Given the description of an element on the screen output the (x, y) to click on. 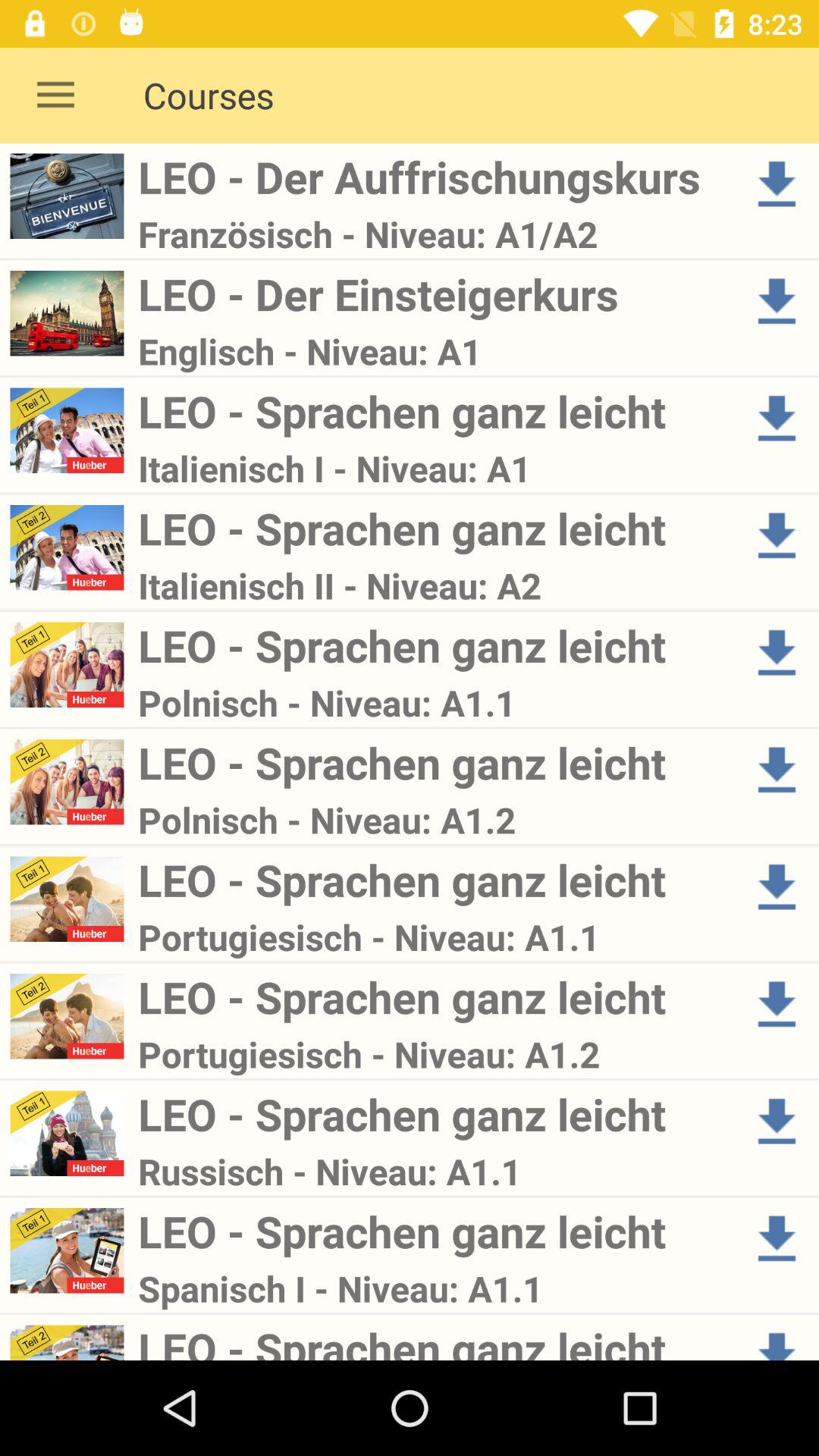
jump to the spanisch i niveau icon (434, 1288)
